Given the description of an element on the screen output the (x, y) to click on. 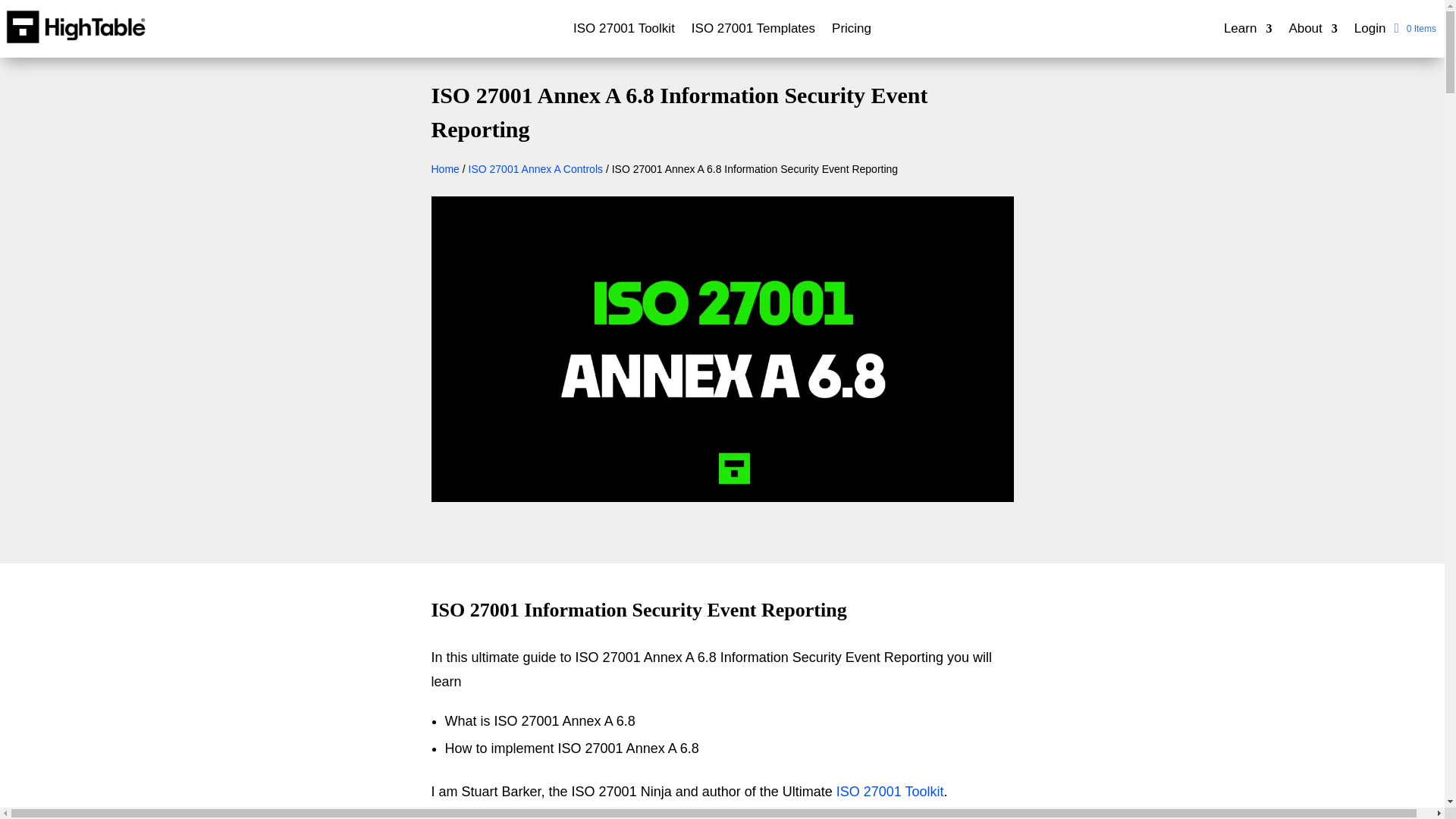
ISO 27001 Annex A Controls (535, 168)
About (1312, 31)
Pricing (850, 31)
Home (444, 168)
Learn (1247, 31)
ISO27001 Annex A 6.8 (721, 497)
0 Items (1414, 28)
High Table ISO 27001 Logo (75, 26)
Login (1370, 31)
ISO 27001 Toolkit (624, 31)
